Given the description of an element on the screen output the (x, y) to click on. 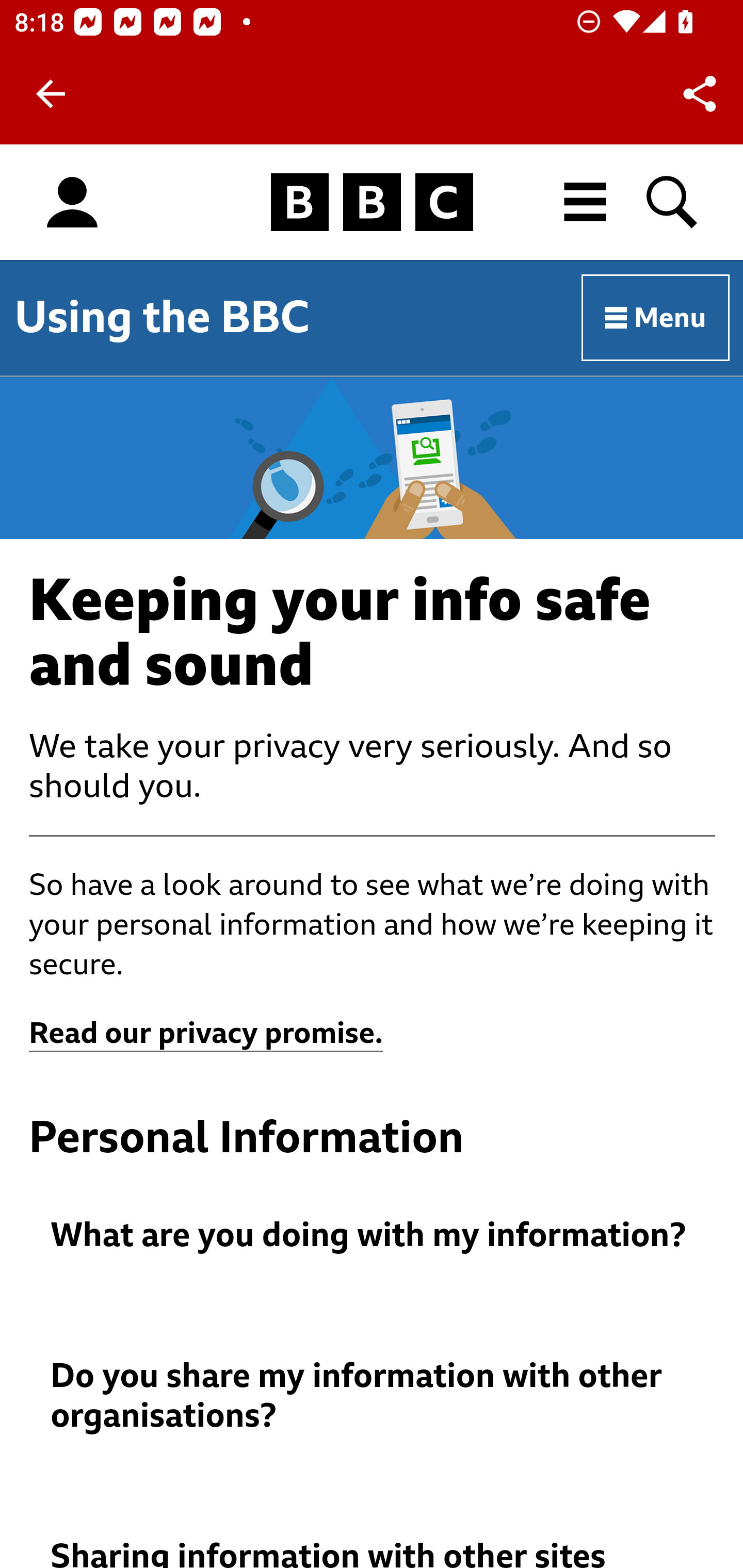
Back (50, 93)
Share (699, 93)
All BBC destinations menu (585, 202)
Search BBC (672, 202)
Sign in (71, 203)
Homepage (371, 203)
Menu (656, 318)
Using the BBC (162, 317)
Read our privacy promise. (206, 1034)
What are you doing with my information? (372, 1235)
Sharing information with other sites (372, 1552)
